Given the description of an element on the screen output the (x, y) to click on. 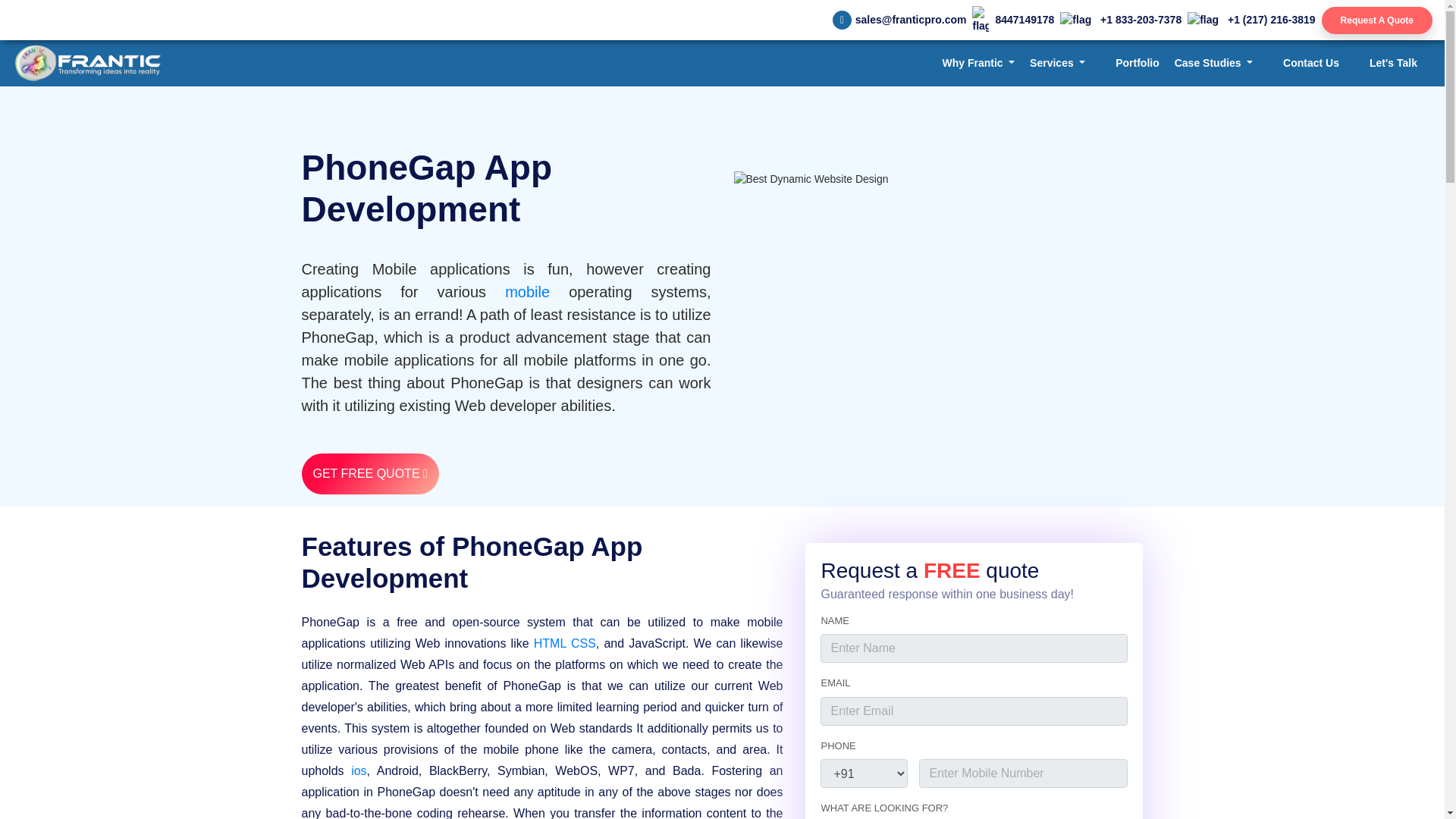
Request A Quote (1377, 19)
Services (1056, 62)
8447149178 (1013, 19)
Why Frantic (979, 62)
